Given the description of an element on the screen output the (x, y) to click on. 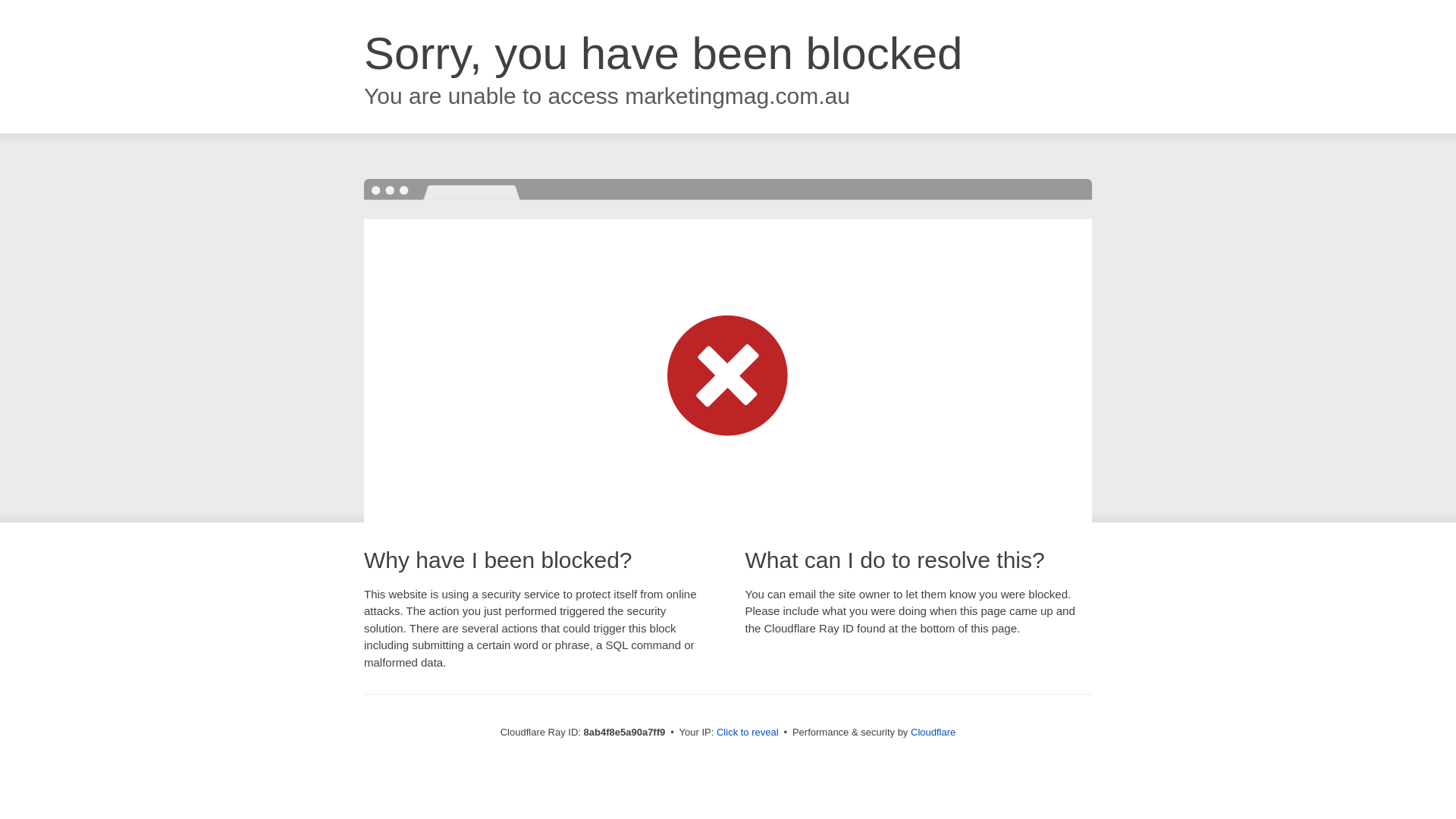
Click to reveal (747, 732)
Cloudflare (933, 731)
